Given the description of an element on the screen output the (x, y) to click on. 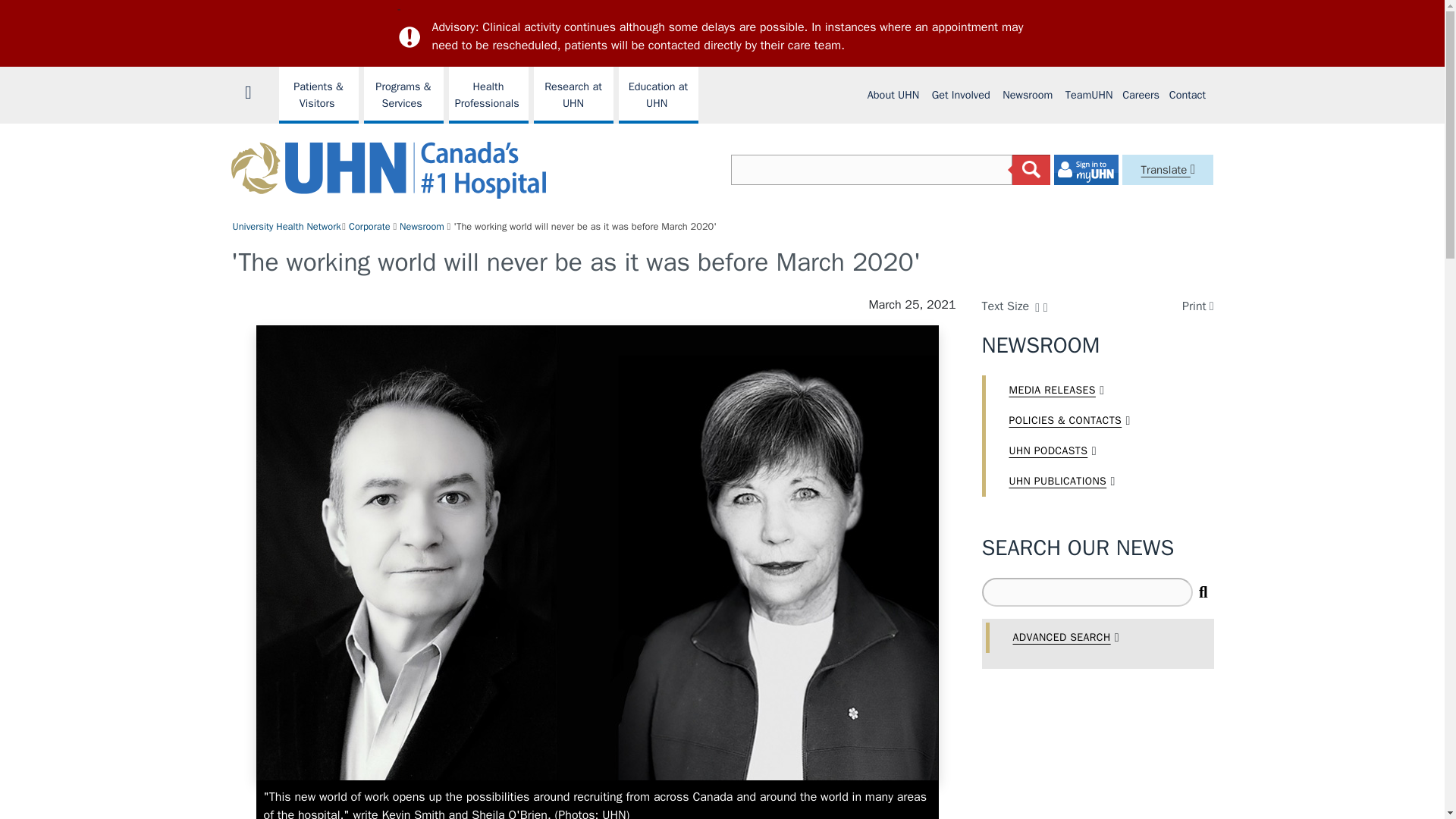
University Health Network Programs (318, 94)
